Given the description of an element on the screen output the (x, y) to click on. 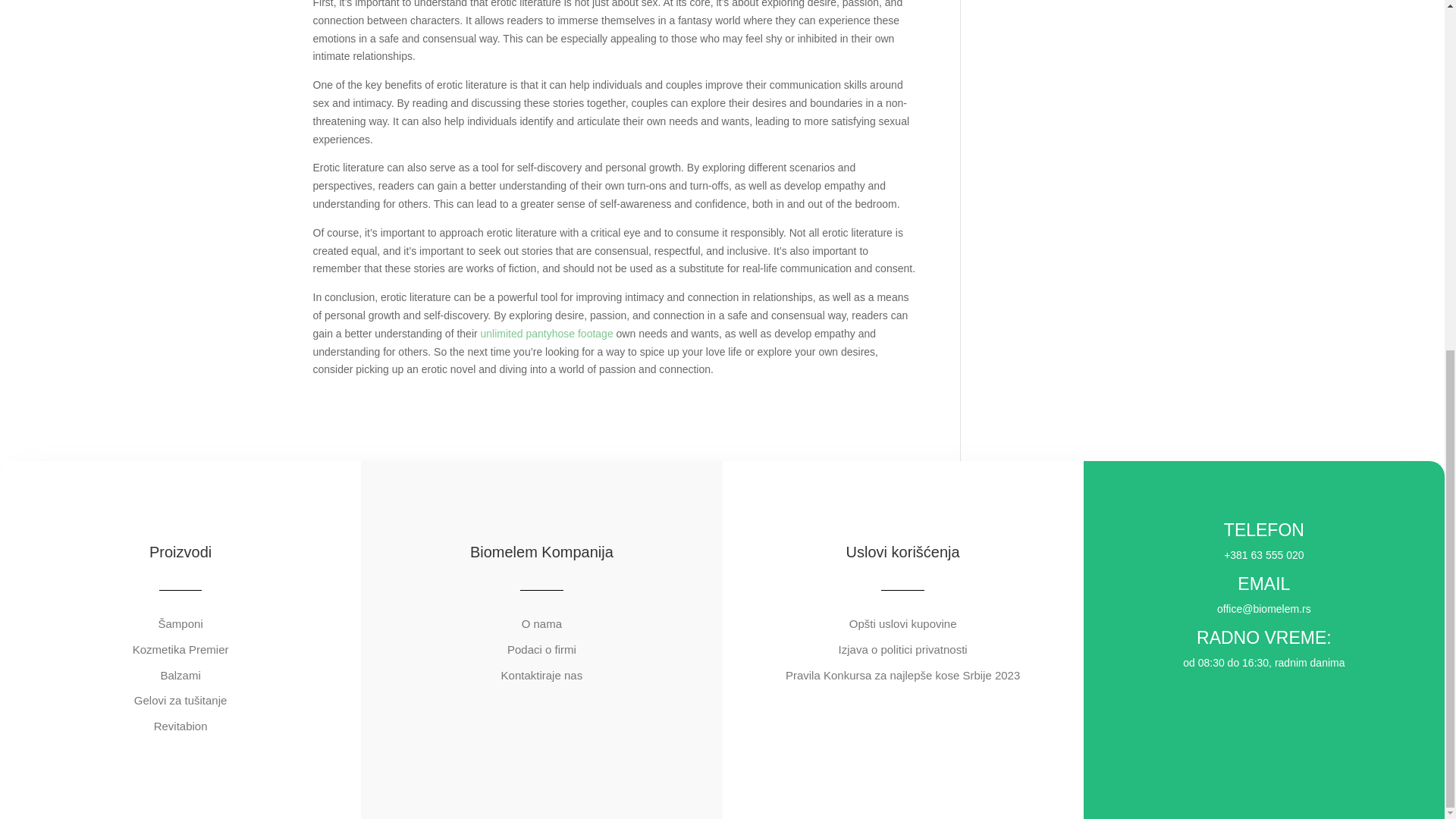
unlimited pantyhose footage (546, 333)
unlimited pantyhose footage (546, 333)
